Given the description of an element on the screen output the (x, y) to click on. 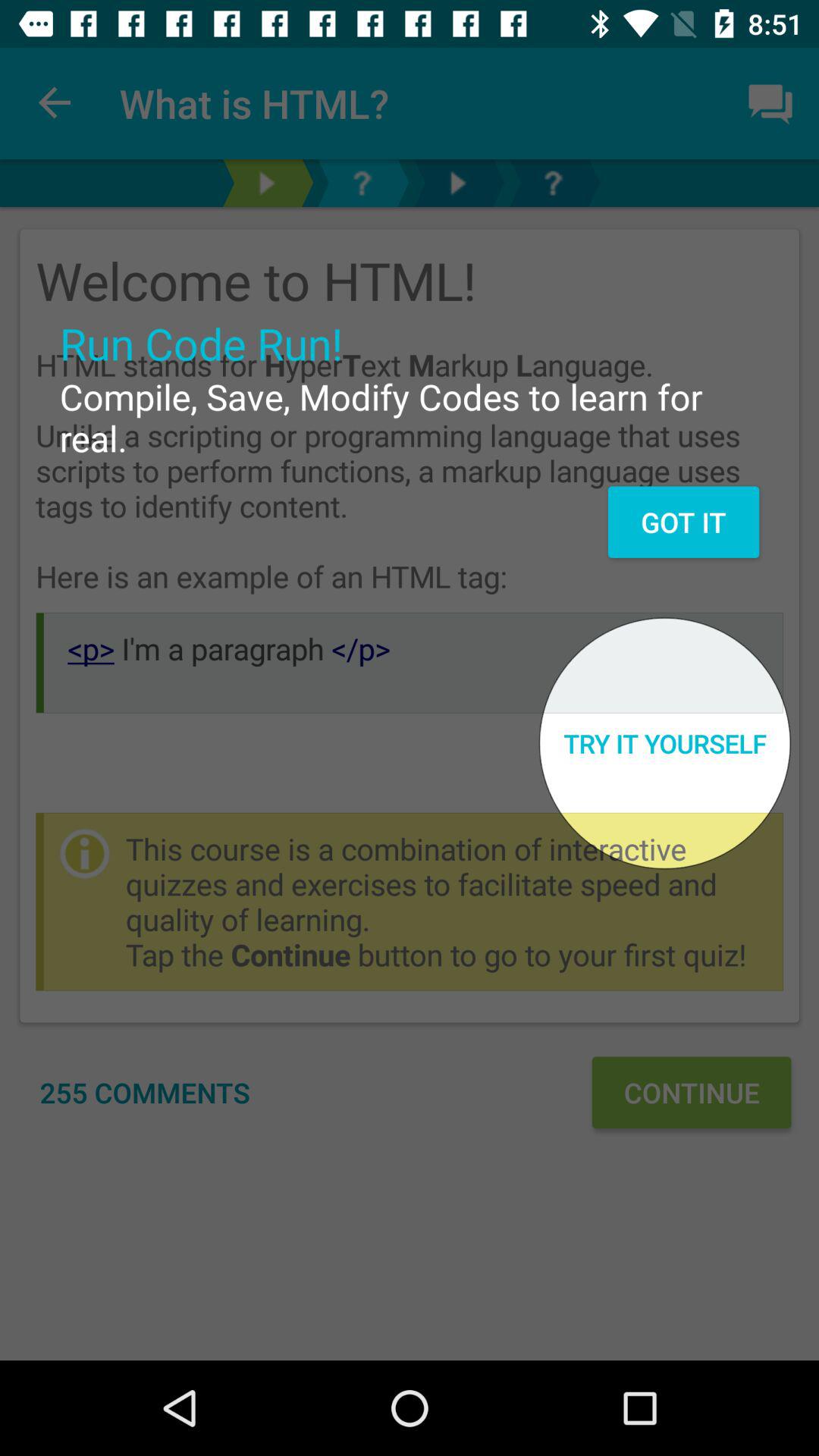
enter your own code (552, 183)
